Given the description of an element on the screen output the (x, y) to click on. 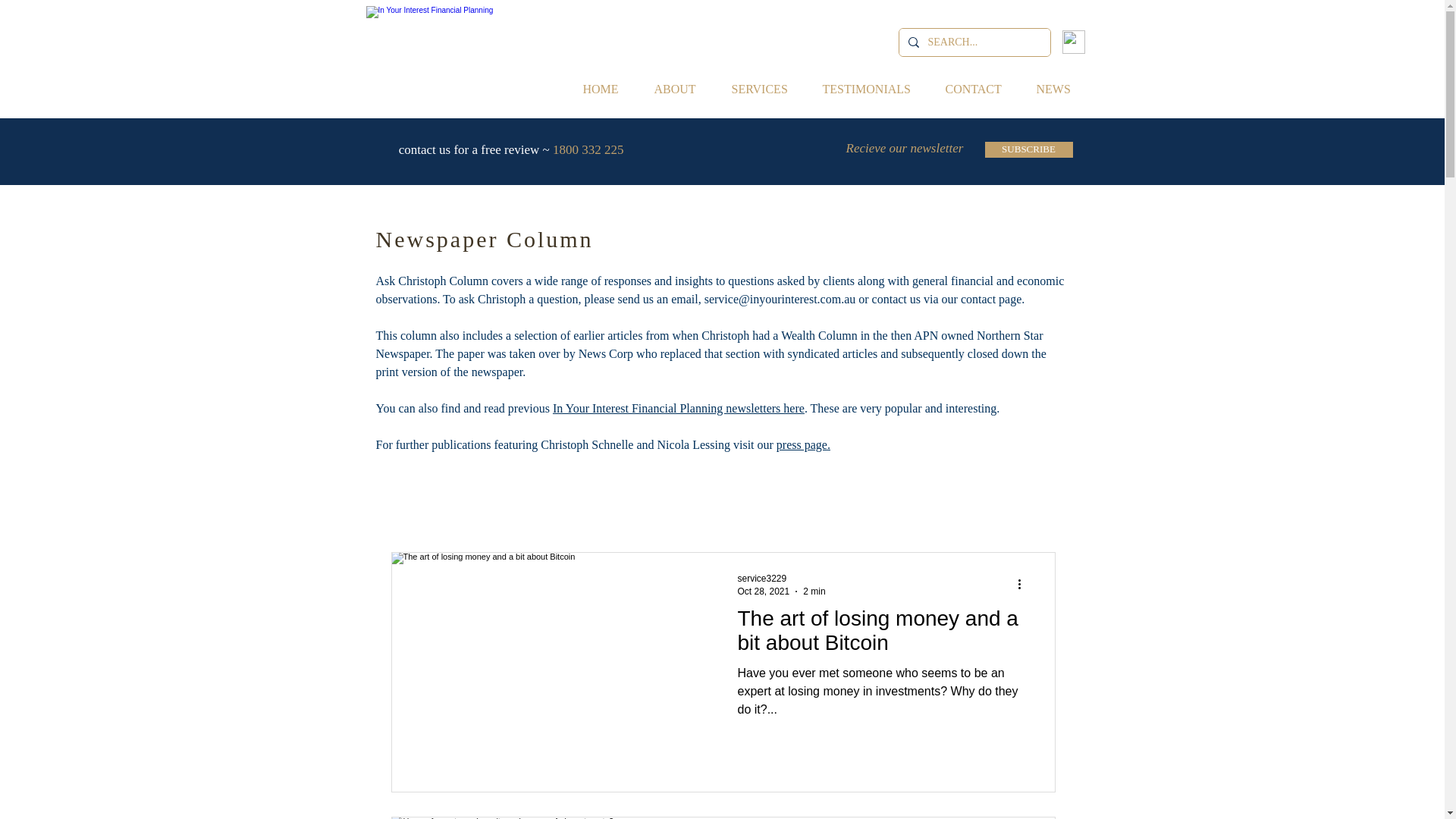
The art of losing money and a bit about Bitcoin (881, 635)
contact page (991, 298)
CONTACT (979, 89)
TESTIMONIALS (872, 89)
contact us (896, 298)
In Your Interest Financial Planning newsletters here (679, 408)
NEWS (1059, 89)
2 min (814, 590)
service3229 (761, 578)
Go To Facebook Page (1072, 42)
ABOUT (681, 89)
press page (801, 444)
free review (509, 149)
SUBSCRIBE (1027, 149)
Oct 28, 2021 (762, 590)
